Given the description of an element on the screen output the (x, y) to click on. 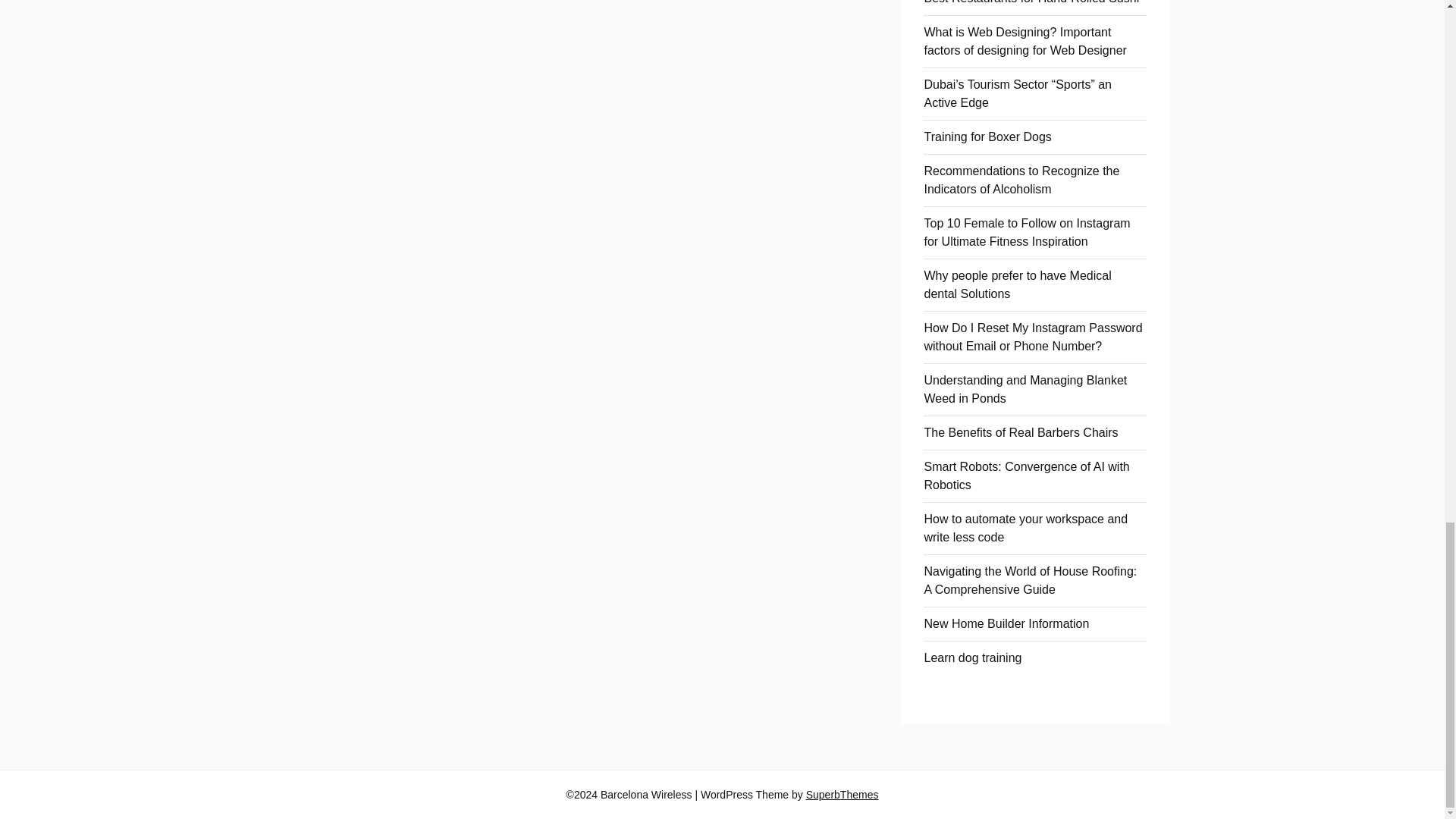
Understanding and Managing Blanket Weed in Ponds (1024, 388)
New Home Builder Information (1006, 623)
Training for Boxer Dogs (987, 136)
Why people prefer to have Medical dental Solutions (1016, 284)
Best Restaurants for Hand-Rolled Sushi (1030, 2)
Learn dog training (972, 657)
Smart Robots: Convergence of AI with Robotics (1026, 475)
